Given the description of an element on the screen output the (x, y) to click on. 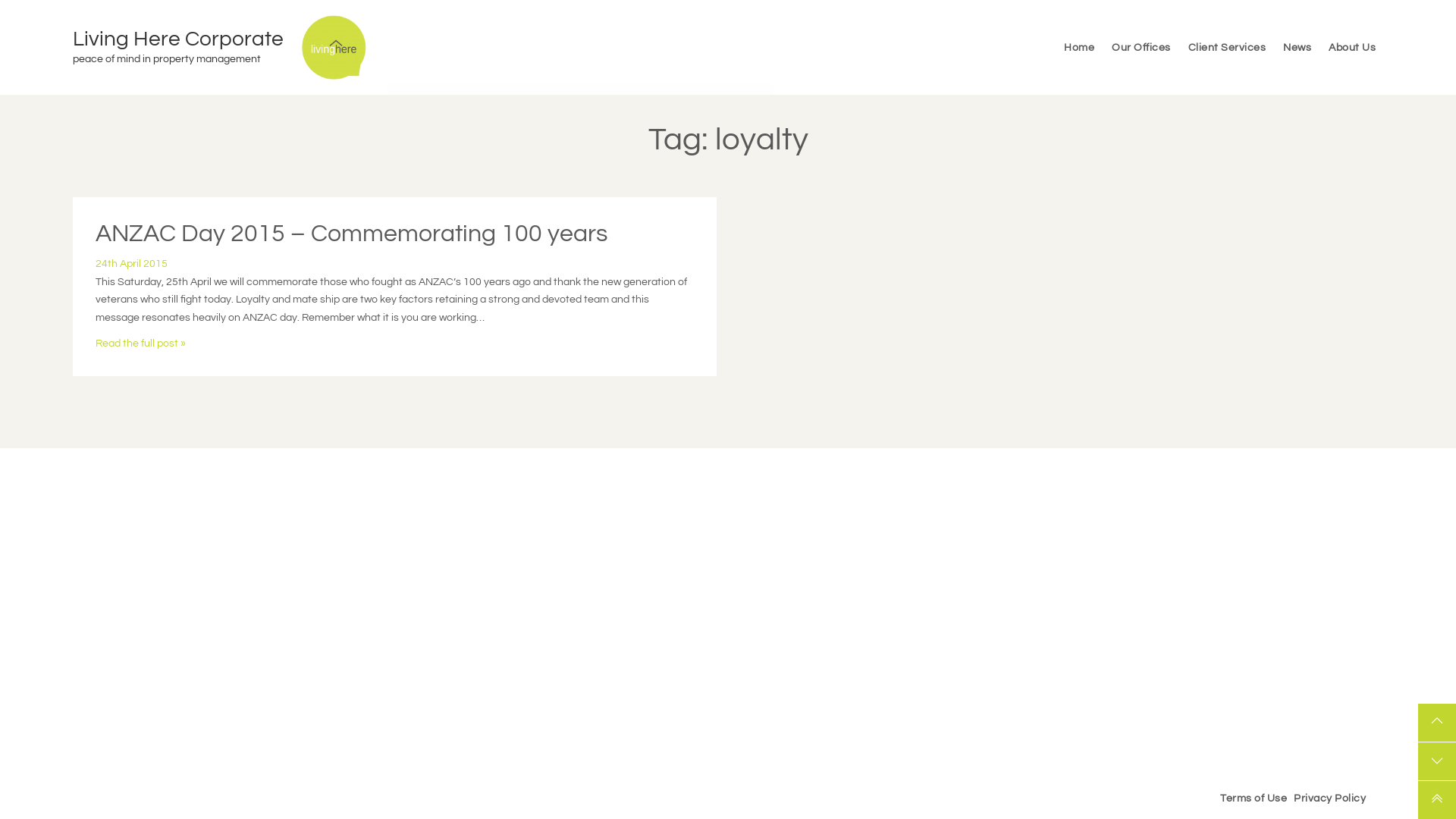
About Us Element type: text (1352, 46)
24th April 2015 Element type: text (131, 263)
Our Offices Element type: text (1141, 46)
Living Here Corporate
peace of mind in property management Element type: text (186, 47)
Terms of Use Element type: text (1253, 798)
Privacy Policy Element type: text (1329, 798)
Home Element type: text (1078, 46)
Client Services Element type: text (1226, 46)
News Element type: text (1296, 46)
